Given the description of an element on the screen output the (x, y) to click on. 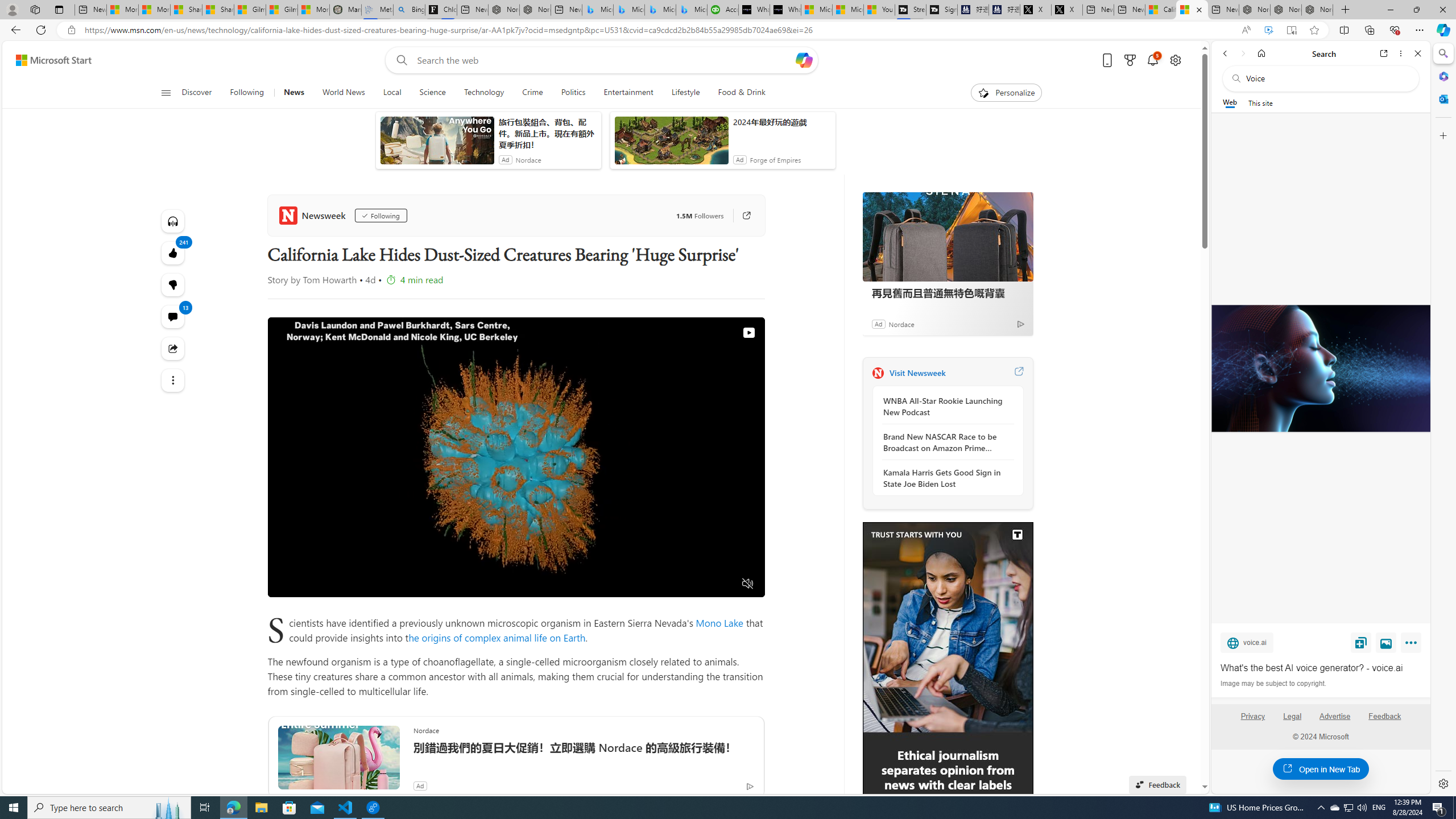
Web search (398, 60)
Search (1442, 53)
Workspaces (34, 9)
Crime (532, 92)
View site information (70, 29)
Local (391, 92)
Captions (702, 583)
Browser essentials (1394, 29)
Nordace Siena Pro 15 Backpack (1285, 9)
Following (380, 215)
Notifications (1152, 60)
Bing Real Estate - Home sales and rental listings (408, 9)
Legal (1291, 715)
